Given the description of an element on the screen output the (x, y) to click on. 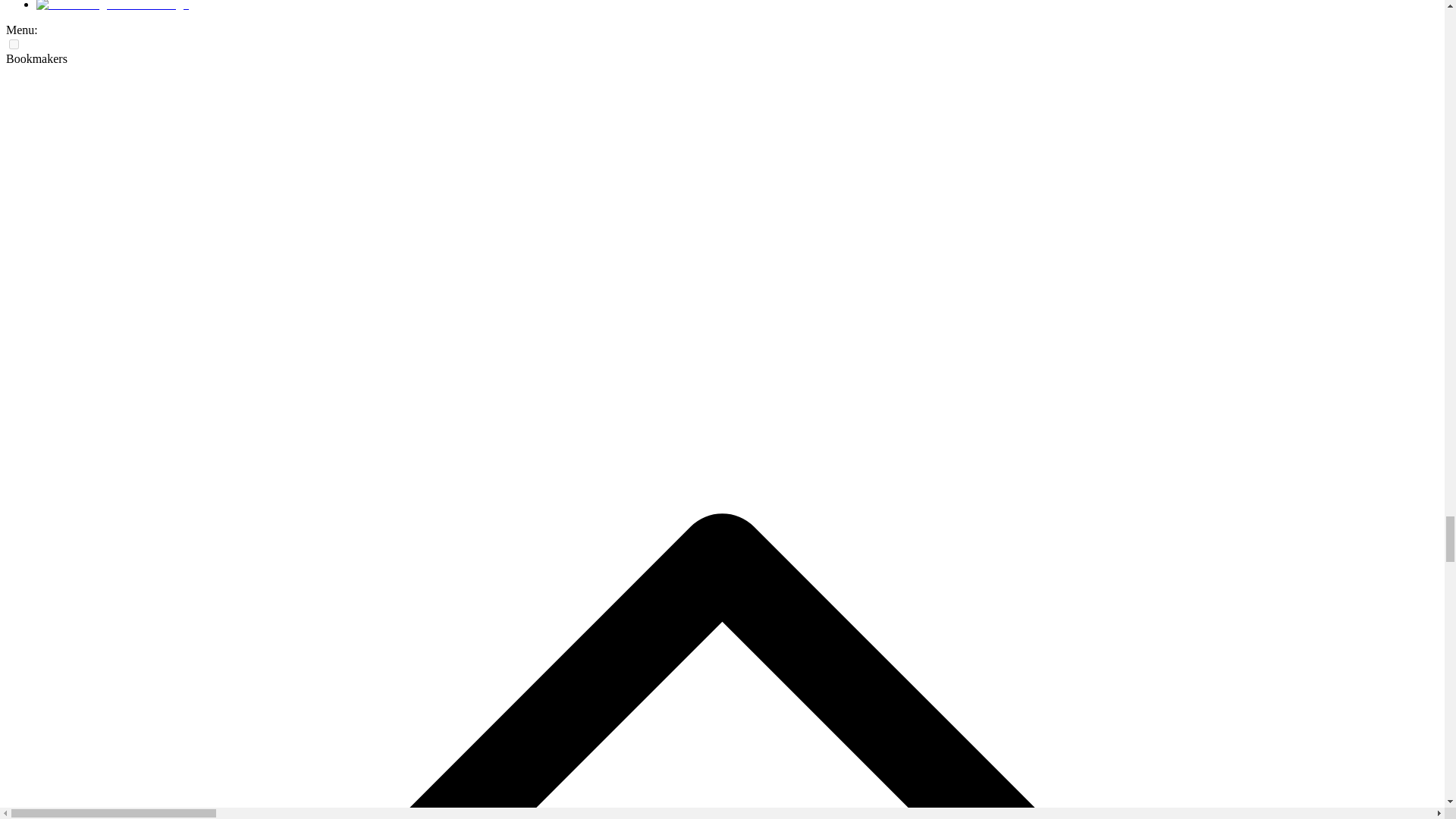
on (13, 44)
